Given the description of an element on the screen output the (x, y) to click on. 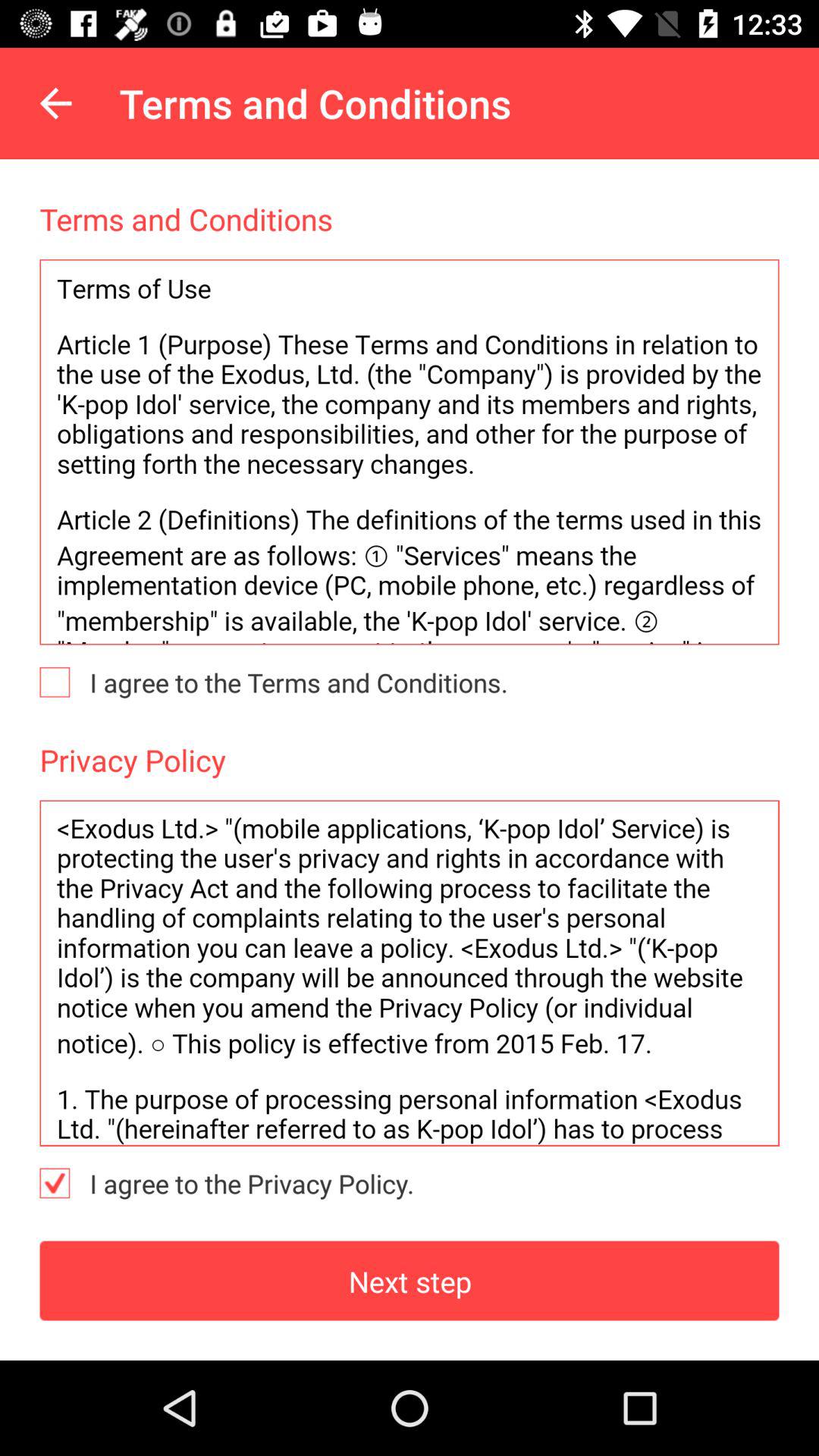
advatisment (409, 452)
